Given the description of an element on the screen output the (x, y) to click on. 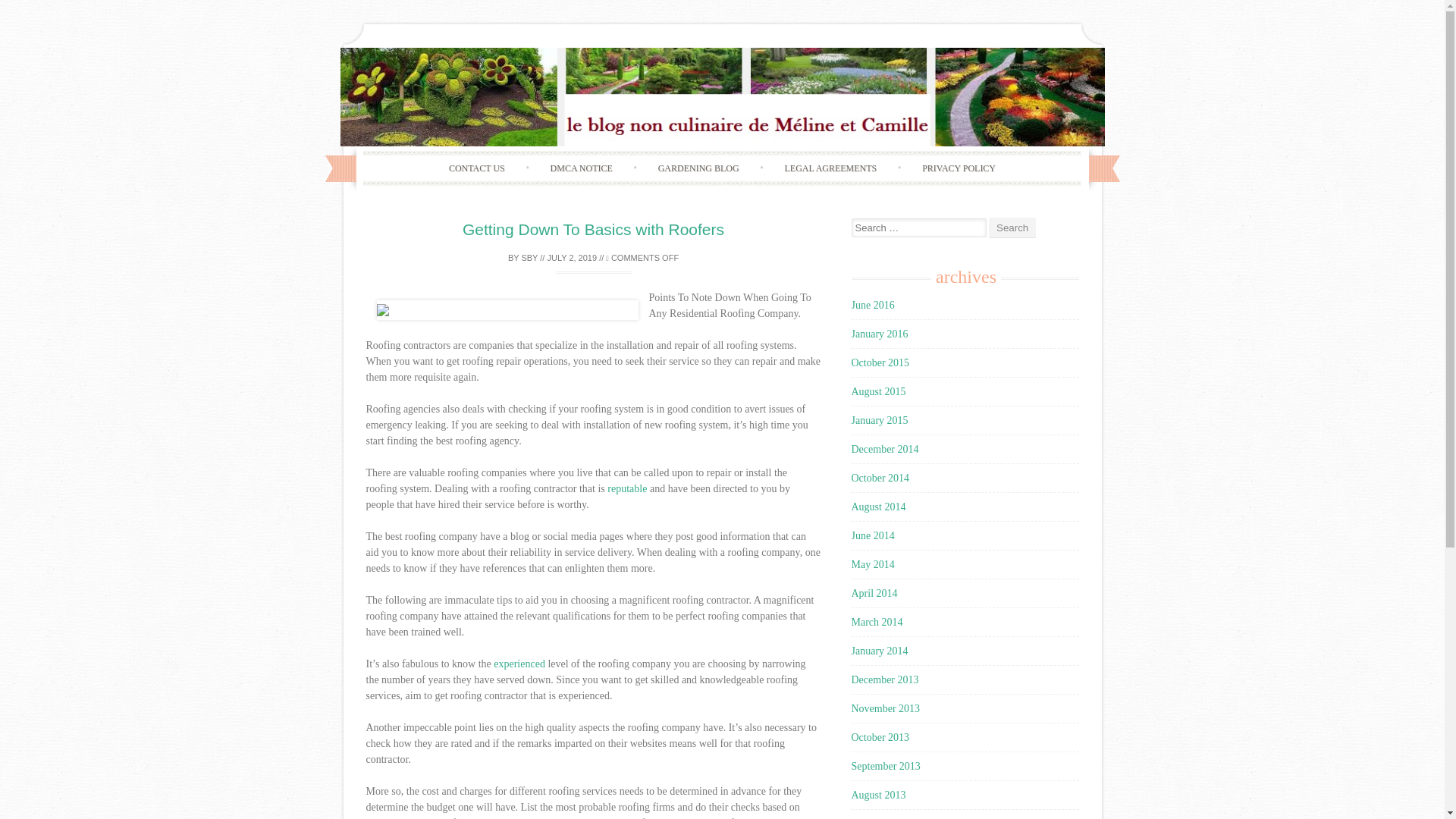
Search (1011, 227)
GARDENING BLOG (698, 167)
January 2015 (878, 419)
Search (1011, 227)
September 2013 (885, 766)
View all posts by sby (529, 257)
December 2013 (884, 679)
August 2013 (877, 794)
May 2014 (871, 564)
4:03 pm (571, 257)
